Given the description of an element on the screen output the (x, y) to click on. 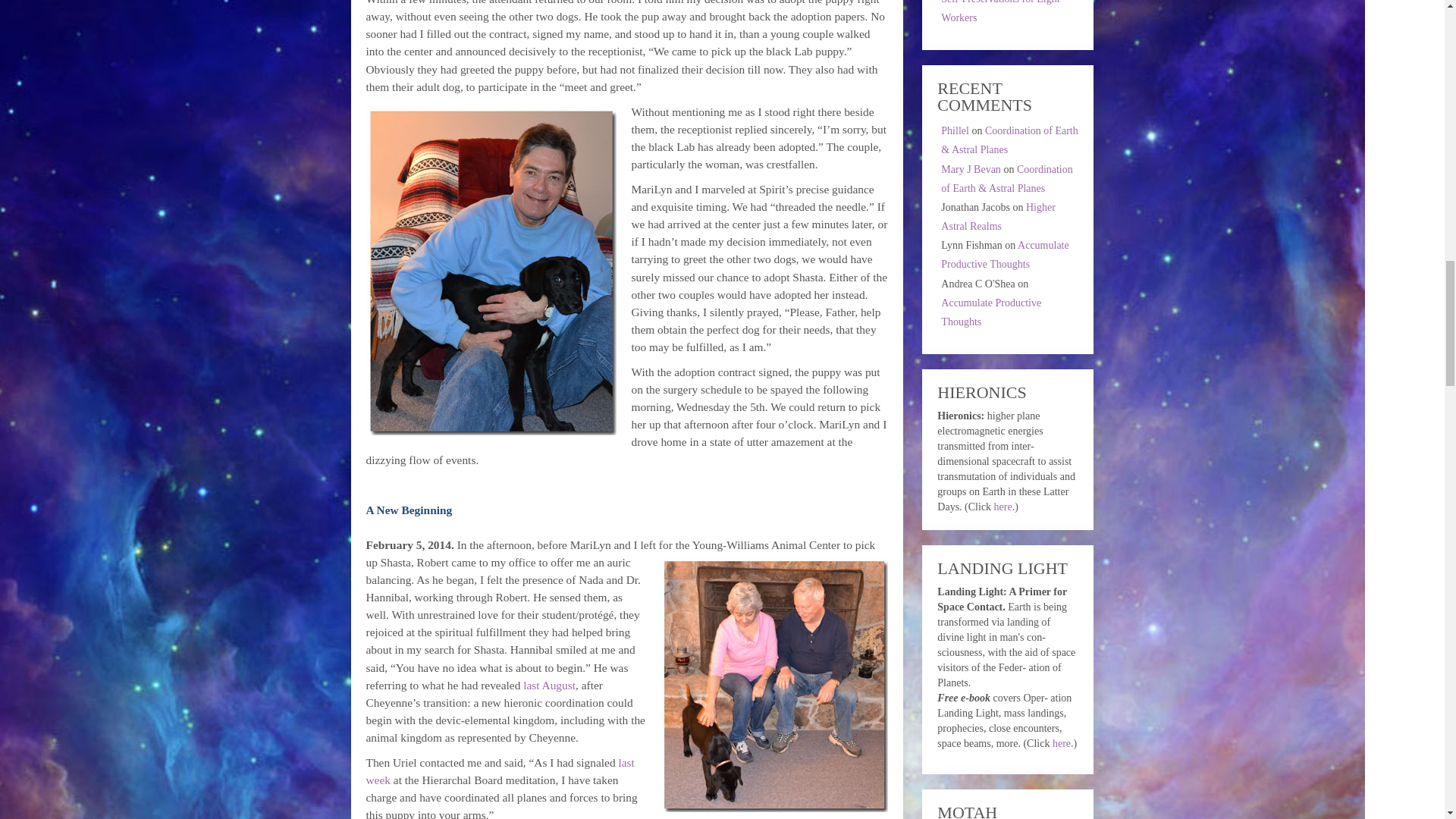
last August (548, 684)
last week (499, 770)
